Given the description of an element on the screen output the (x, y) to click on. 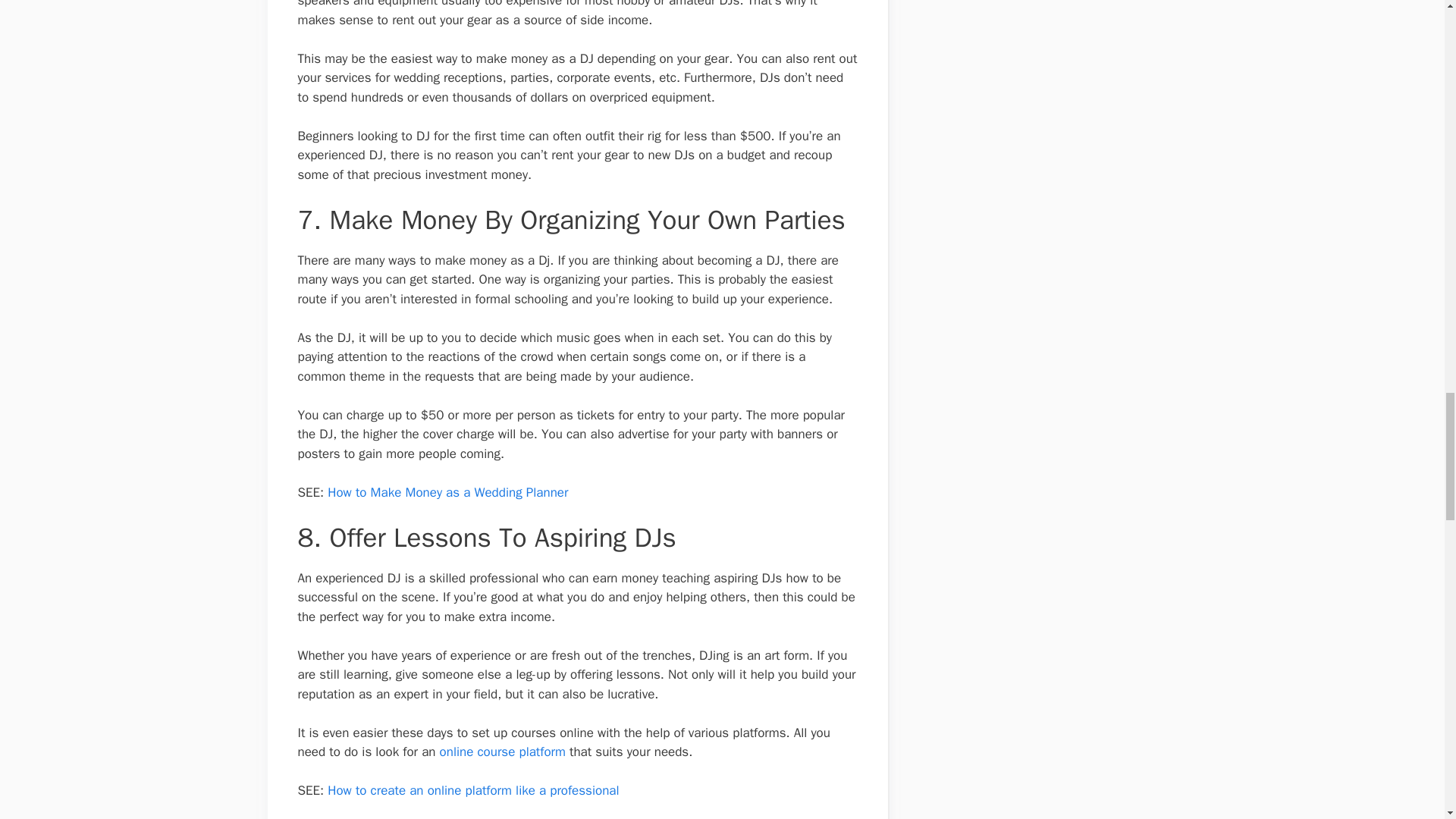
How to Make Money as a Wedding Planner (447, 492)
How to create an online platform like a professional  (475, 790)
online course platform (502, 751)
